Given the description of an element on the screen output the (x, y) to click on. 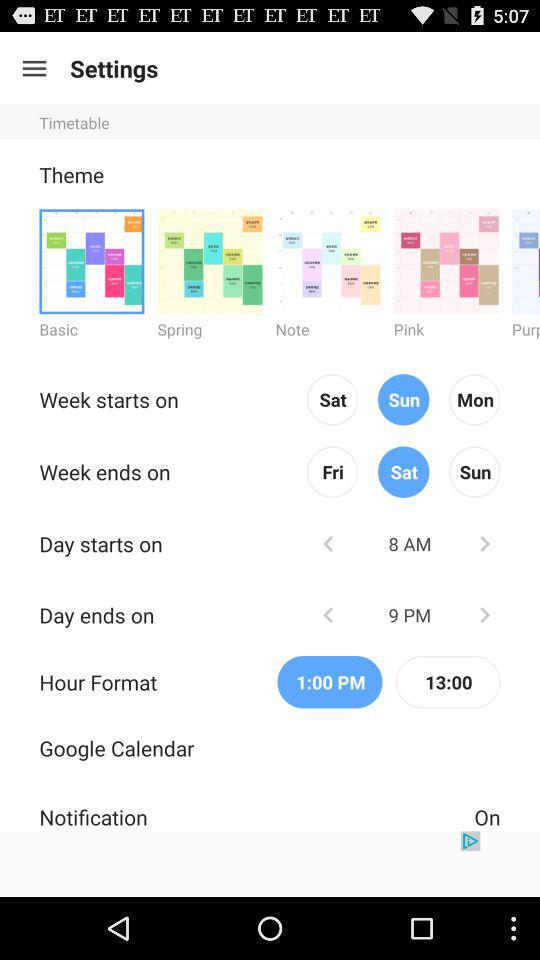
select purple theme (525, 260)
